Given the description of an element on the screen output the (x, y) to click on. 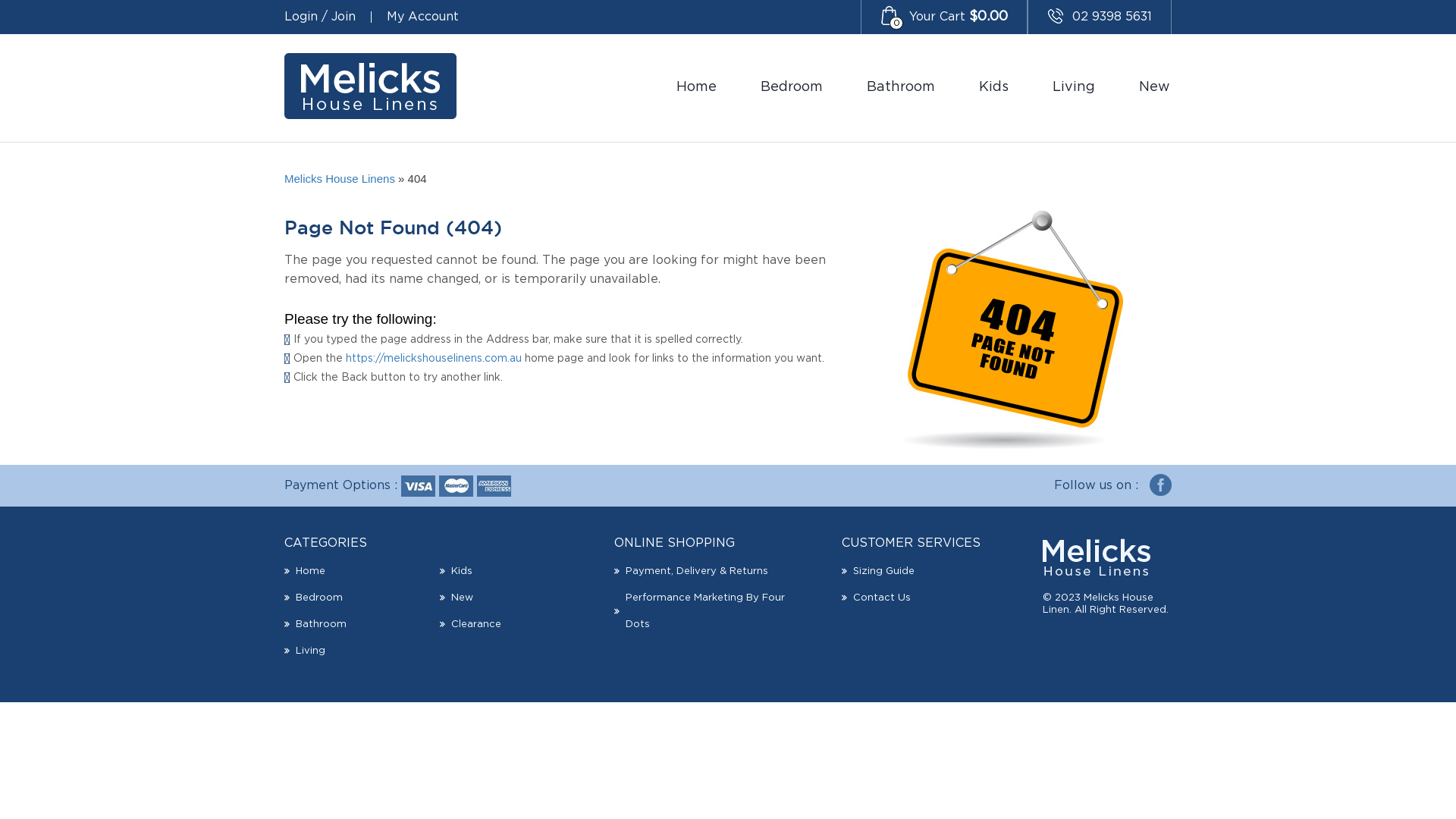
Melicks House Linens Element type: text (339, 178)
My Account Element type: text (422, 16)
Performance Marketing By Four Dots Element type: text (704, 611)
footer_visa Element type: hover (418, 485)
Home Element type: text (696, 88)
Bedroom Element type: text (318, 597)
Living Element type: text (310, 650)
Kids Element type: text (461, 571)
https://melickshouselinens.com.au Element type: text (433, 358)
Living Element type: text (1073, 88)
New Element type: text (462, 597)
0
Your Cart $0.00 Element type: text (943, 16)
Home Element type: text (310, 571)
footer_american-express Element type: hover (493, 485)
Payment, Delivery & Returns Element type: text (696, 571)
Contact Us Element type: text (881, 597)
Kids Element type: text (993, 88)
Bathroom Element type: text (900, 88)
footer_master Element type: hover (456, 485)
Bedroom Element type: text (791, 88)
footer_fb Element type: hover (1160, 485)
Clearance Element type: text (476, 624)
Login / Join Element type: text (319, 16)
Sizing Guide Element type: text (883, 571)
Bathroom Element type: text (320, 624)
New Element type: text (1154, 88)
